Given the description of an element on the screen output the (x, y) to click on. 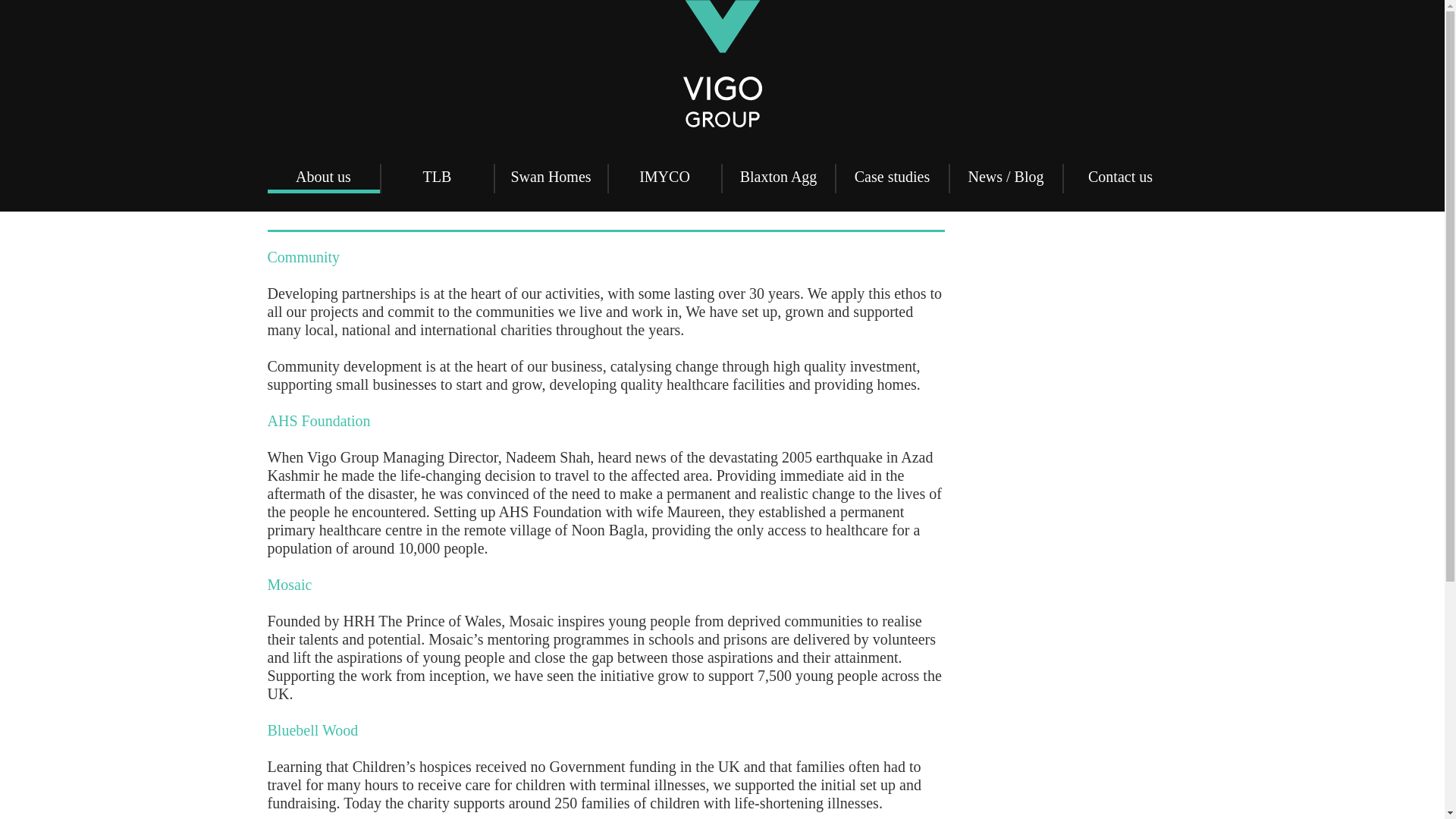
TLB (436, 178)
Case studies (891, 178)
IMYCO (664, 178)
Contact us (1119, 178)
About us (322, 178)
Swan Homes (551, 178)
Blaxton Agg (778, 178)
